Given the description of an element on the screen output the (x, y) to click on. 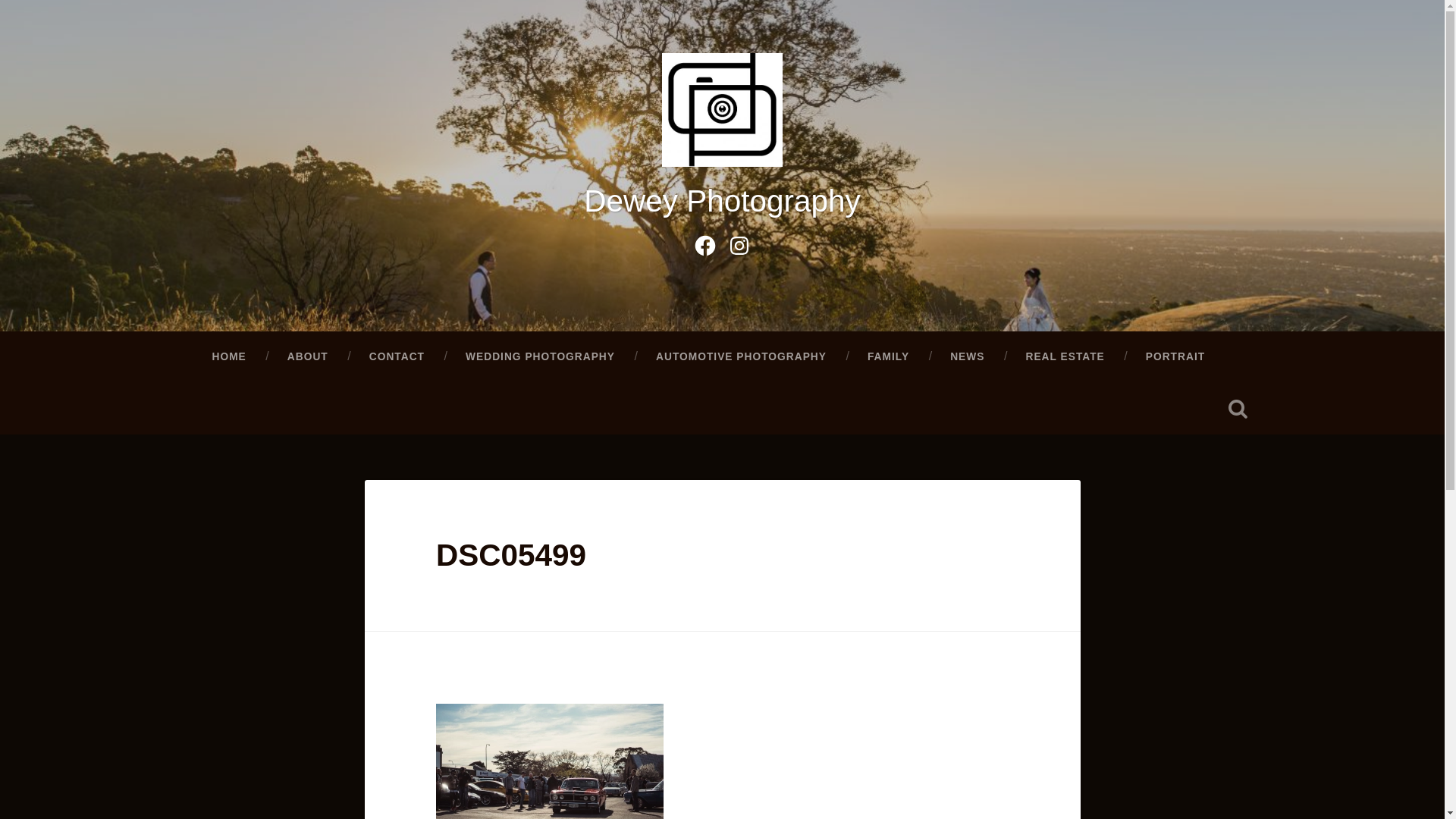
REAL ESTATE Element type: text (1064, 356)
FAMILY Element type: text (888, 356)
CONTACT Element type: text (396, 356)
ABOUT Element type: text (307, 356)
HOME Element type: text (228, 356)
Dewey Photography Element type: text (721, 200)
AUTOMOTIVE PHOTOGRAPHY Element type: text (741, 356)
Open Search Element type: text (1237, 408)
WEDDING PHOTOGRAPHY Element type: text (540, 356)
PORTRAIT Element type: text (1175, 356)
DSC05499 Element type: text (511, 554)
NEWS Element type: text (966, 356)
